Given the description of an element on the screen output the (x, y) to click on. 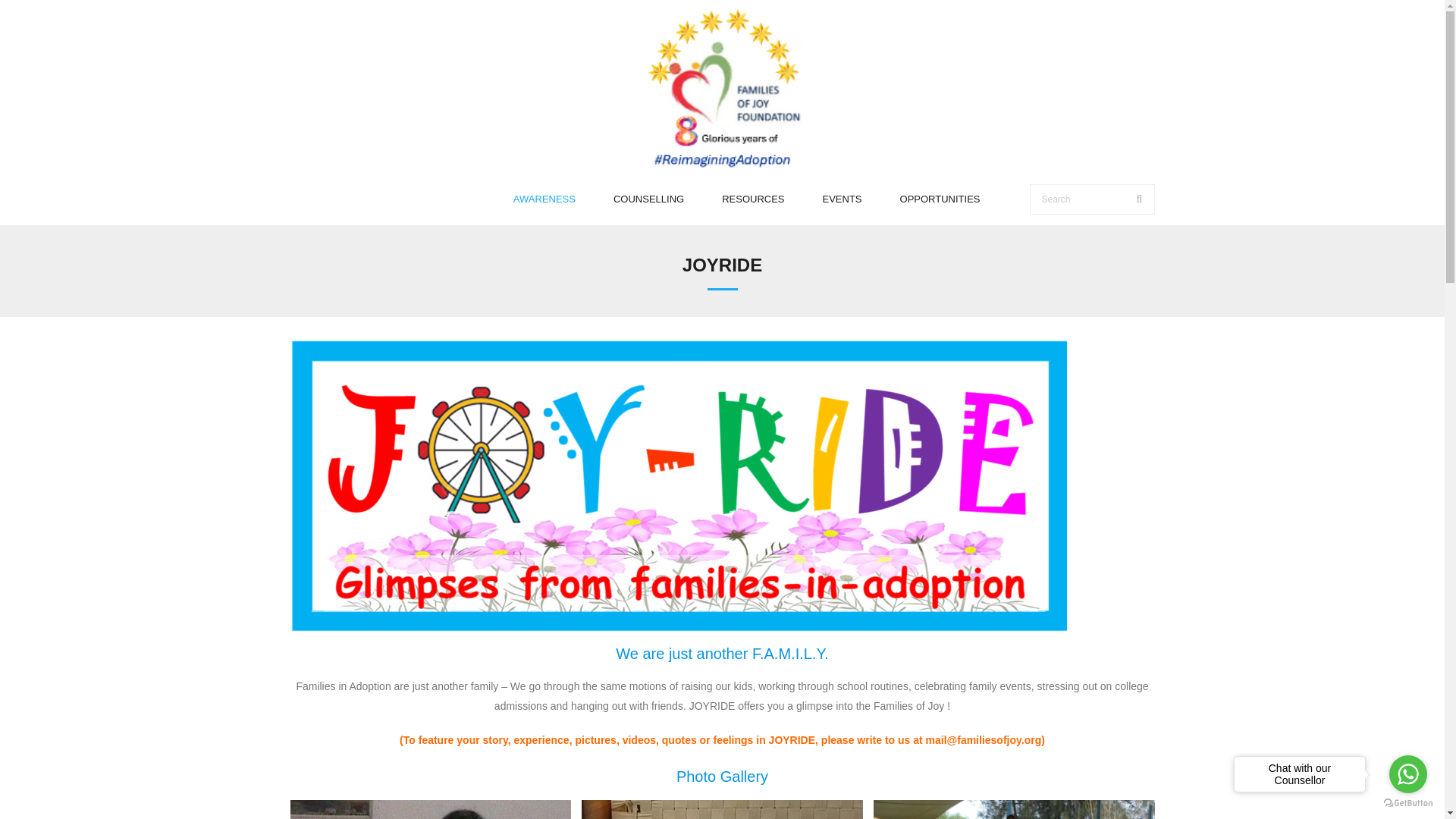
RESOURCES (753, 198)
AWARENESS (544, 198)
OPPORTUNITIES (939, 198)
COUNSELLING (648, 198)
EVENTS (841, 198)
Search (37, 15)
